Given the description of an element on the screen output the (x, y) to click on. 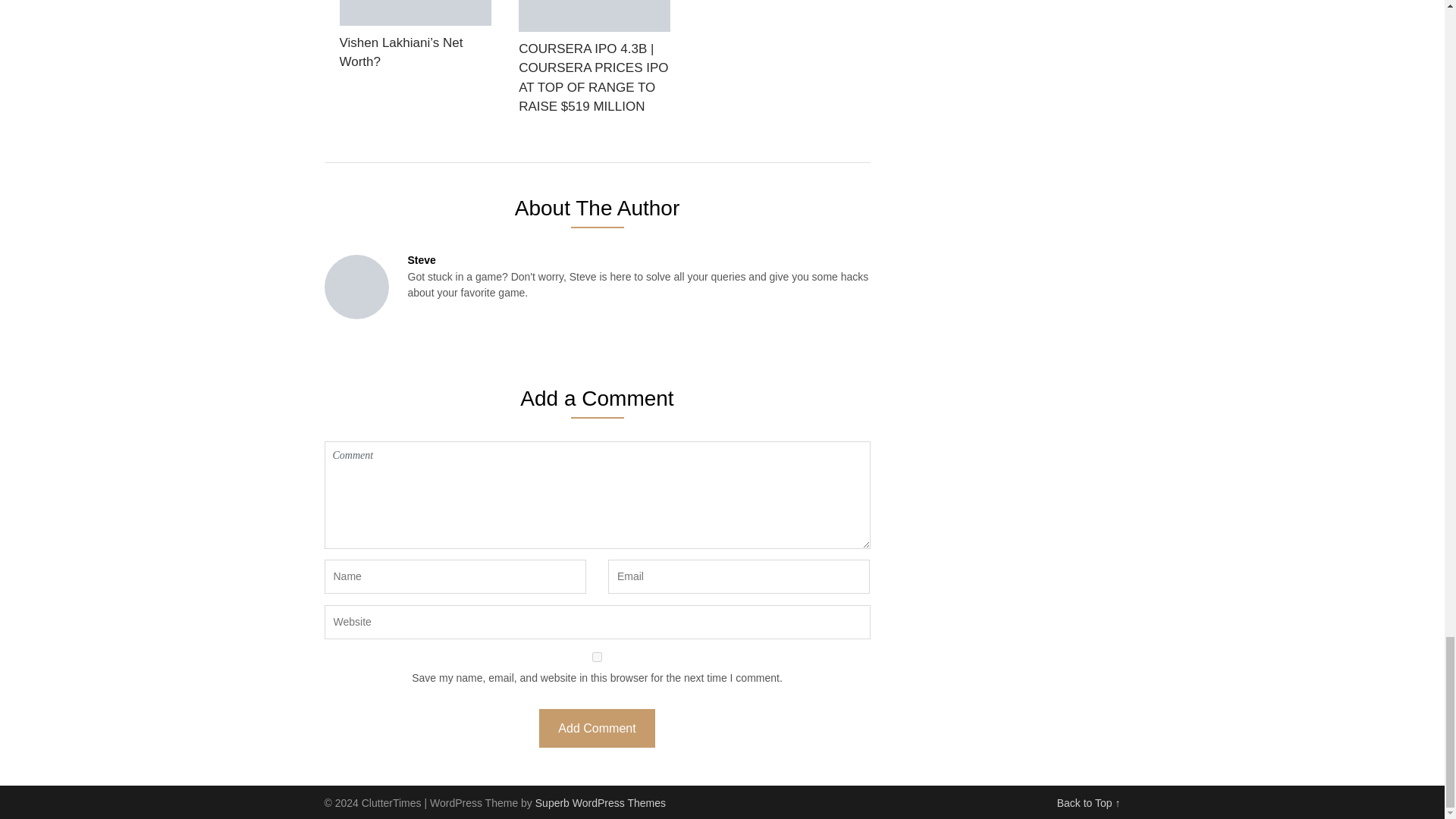
Add Comment (595, 728)
Superb WordPress Themes (600, 802)
yes (597, 656)
Add Comment (595, 728)
Vishen Lakhiani's Net Worth? 7 (415, 12)
